Given the description of an element on the screen output the (x, y) to click on. 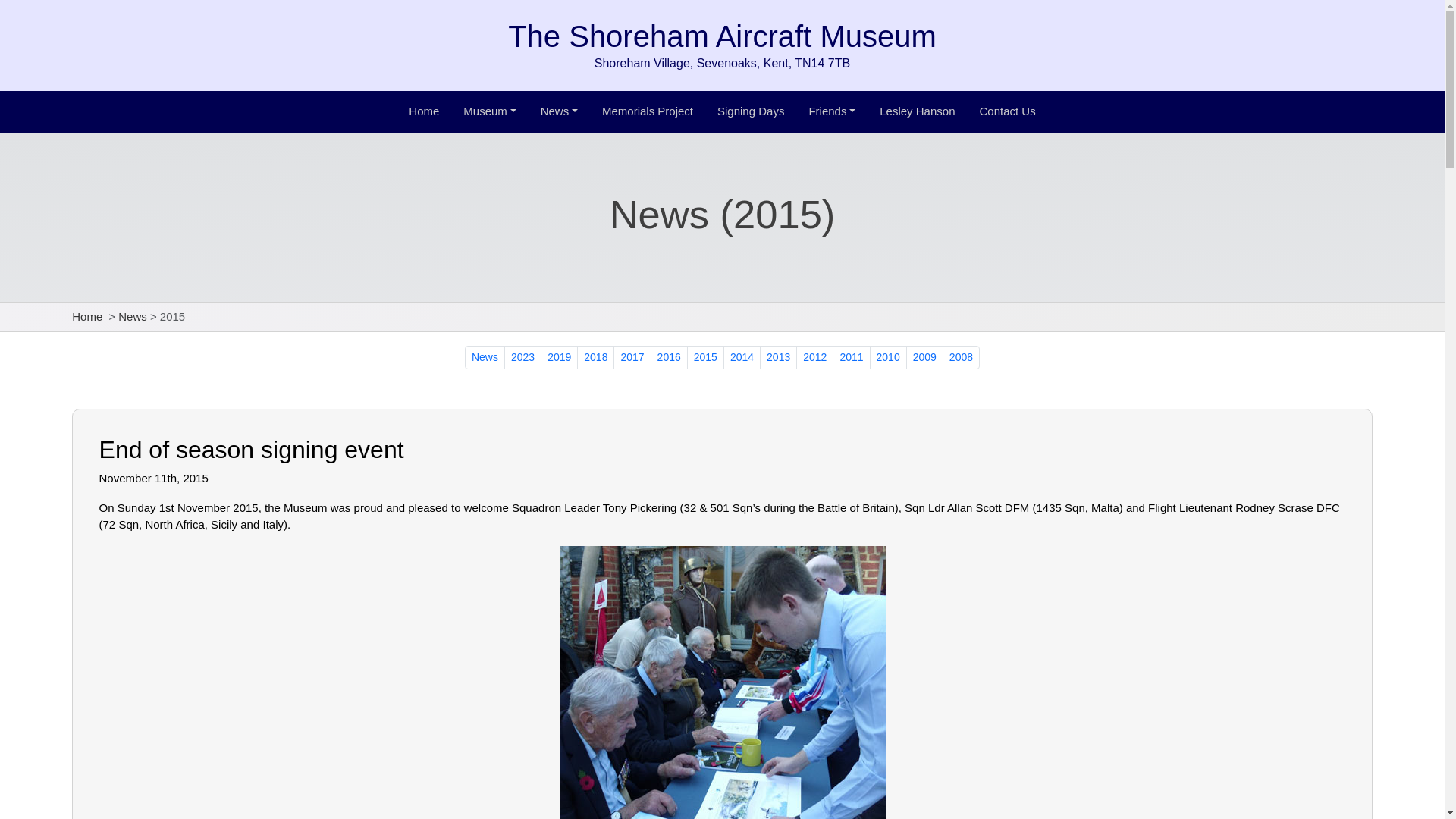
Home (424, 111)
Signing Days (750, 111)
Memorials Project (646, 111)
Museum (489, 111)
News (558, 111)
2019 (559, 357)
News (484, 357)
Home (86, 316)
2023 (522, 357)
Friends (831, 111)
Contact Us (1006, 111)
Lesley Hanson (916, 111)
News (132, 316)
